Given the description of an element on the screen output the (x, y) to click on. 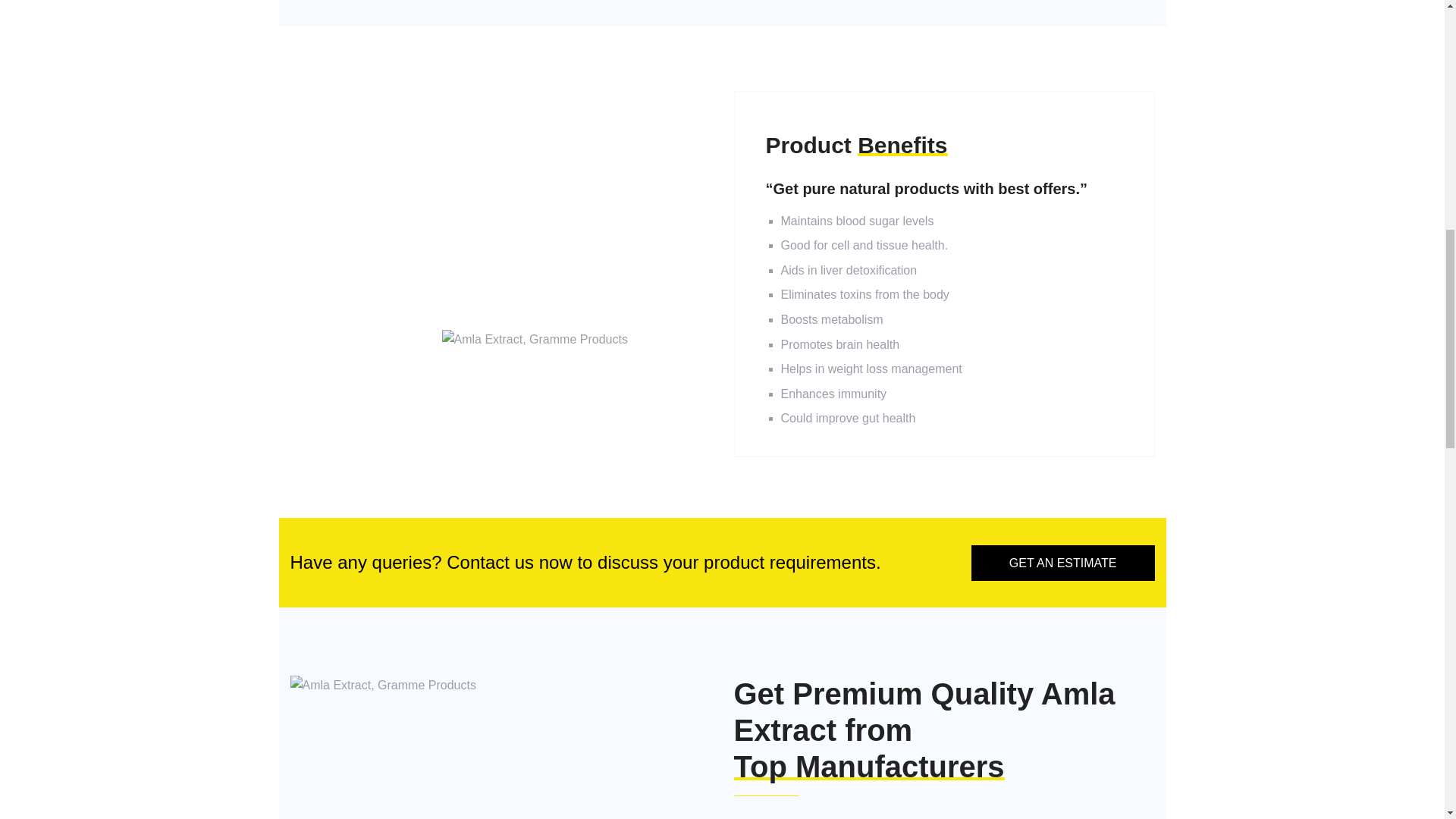
sig (534, 339)
Amla-extract-2 (382, 685)
GET AN ESTIMATE (1062, 562)
ALL PRODUCTS (354, 347)
